Given the description of an element on the screen output the (x, y) to click on. 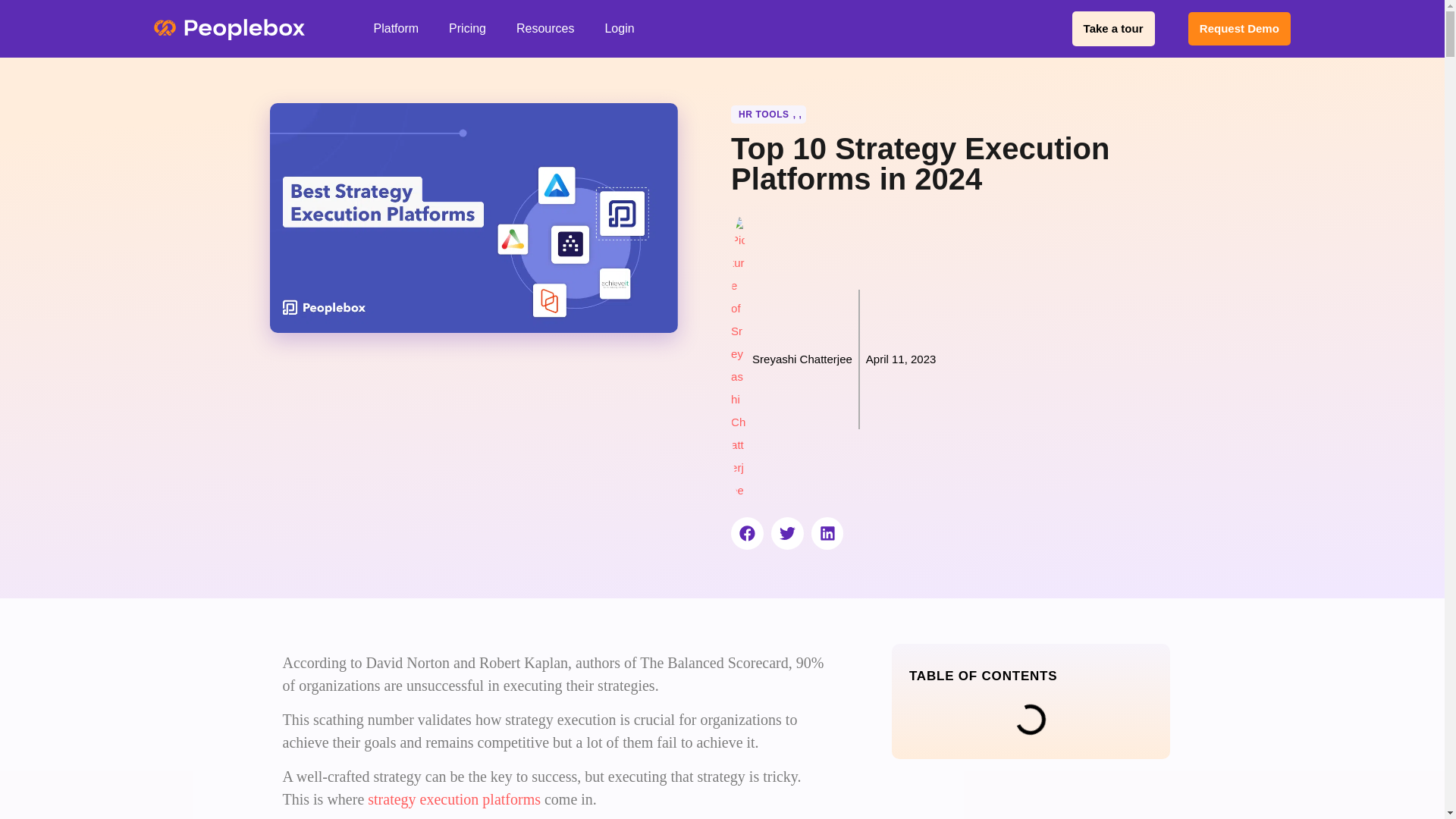
Login (619, 28)
Resources (544, 28)
Pricing (466, 28)
Platform (395, 28)
